Given the description of an element on the screen output the (x, y) to click on. 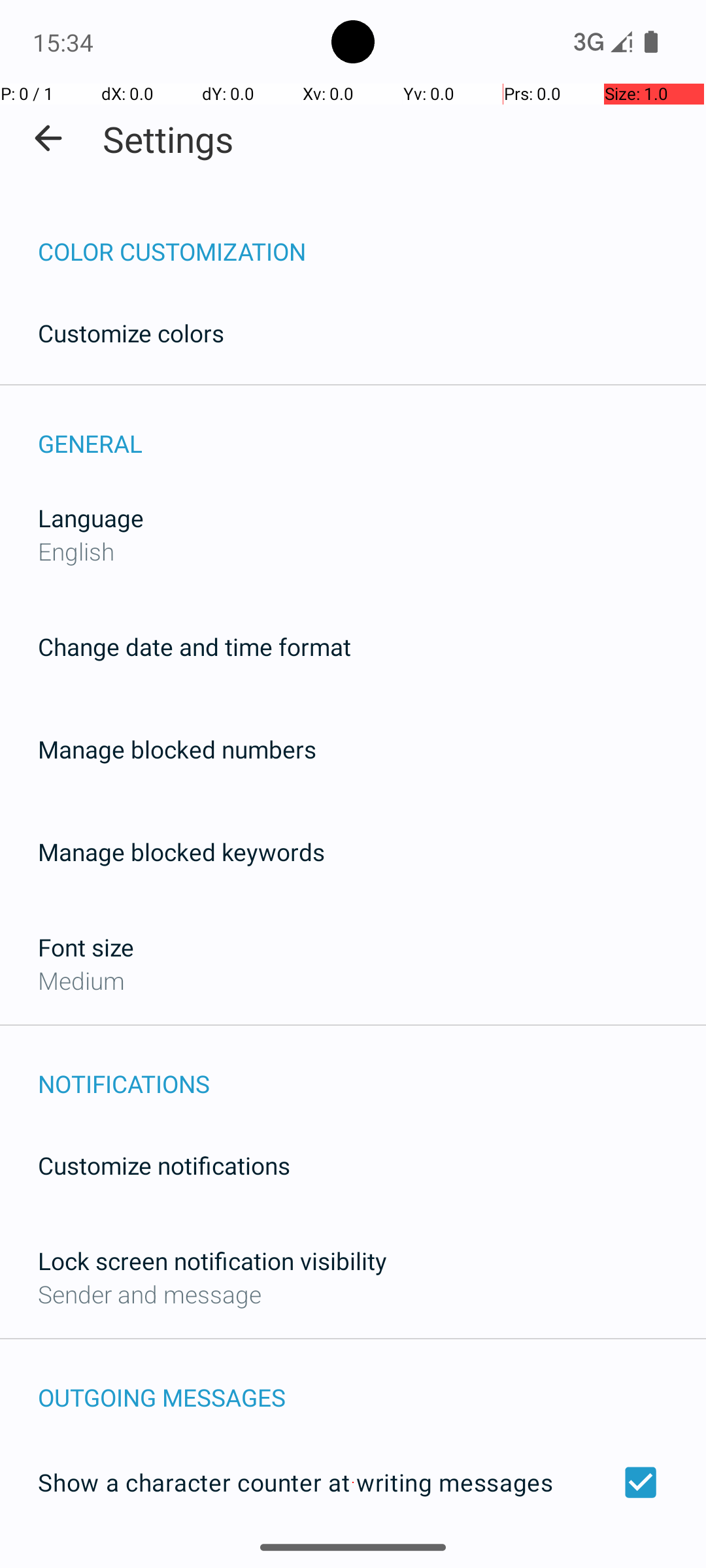
NOTIFICATIONS Element type: android.widget.TextView (371, 1069)
OUTGOING MESSAGES Element type: android.widget.TextView (371, 1383)
Change date and time format Element type: android.widget.TextView (194, 646)
Manage blocked numbers Element type: android.widget.TextView (176, 748)
Manage blocked keywords Element type: android.widget.TextView (180, 851)
Font size Element type: android.widget.TextView (85, 946)
Medium Element type: android.widget.TextView (80, 979)
Lock screen notification visibility Element type: android.widget.TextView (211, 1260)
Sender and message Element type: android.widget.TextView (149, 1293)
Show a character counter at writing messages Element type: android.widget.CheckBox (352, 1482)
Remove accents and diacritics at sending messages Element type: android.widget.CheckBox (352, 1559)
